Given the description of an element on the screen output the (x, y) to click on. 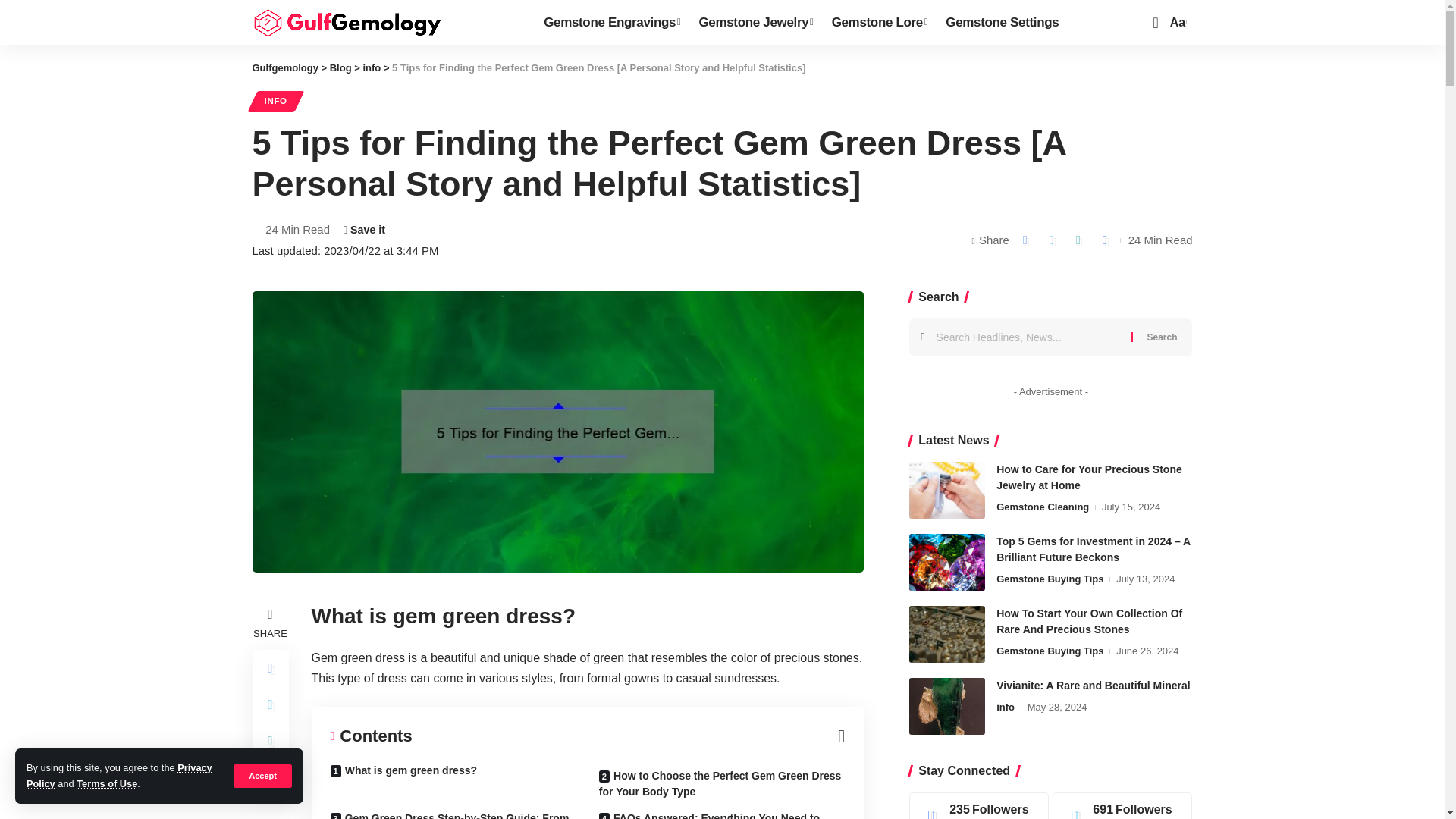
Blog (341, 67)
info (371, 67)
Gemstone Lore (879, 22)
Go to the info Category archives. (371, 67)
Gemstone Jewelry (755, 22)
Gemstone Engravings (611, 22)
Go to Gulfgemology. (284, 67)
Go to Blog. (341, 67)
Gemstone Settings  (1003, 22)
Aa (1177, 22)
Accept (262, 775)
Search (1161, 337)
How to Care for Your Precious Stone Jewelry at Home (946, 489)
Terms of Use (106, 783)
Gulfgemology (346, 22)
